Given the description of an element on the screen output the (x, y) to click on. 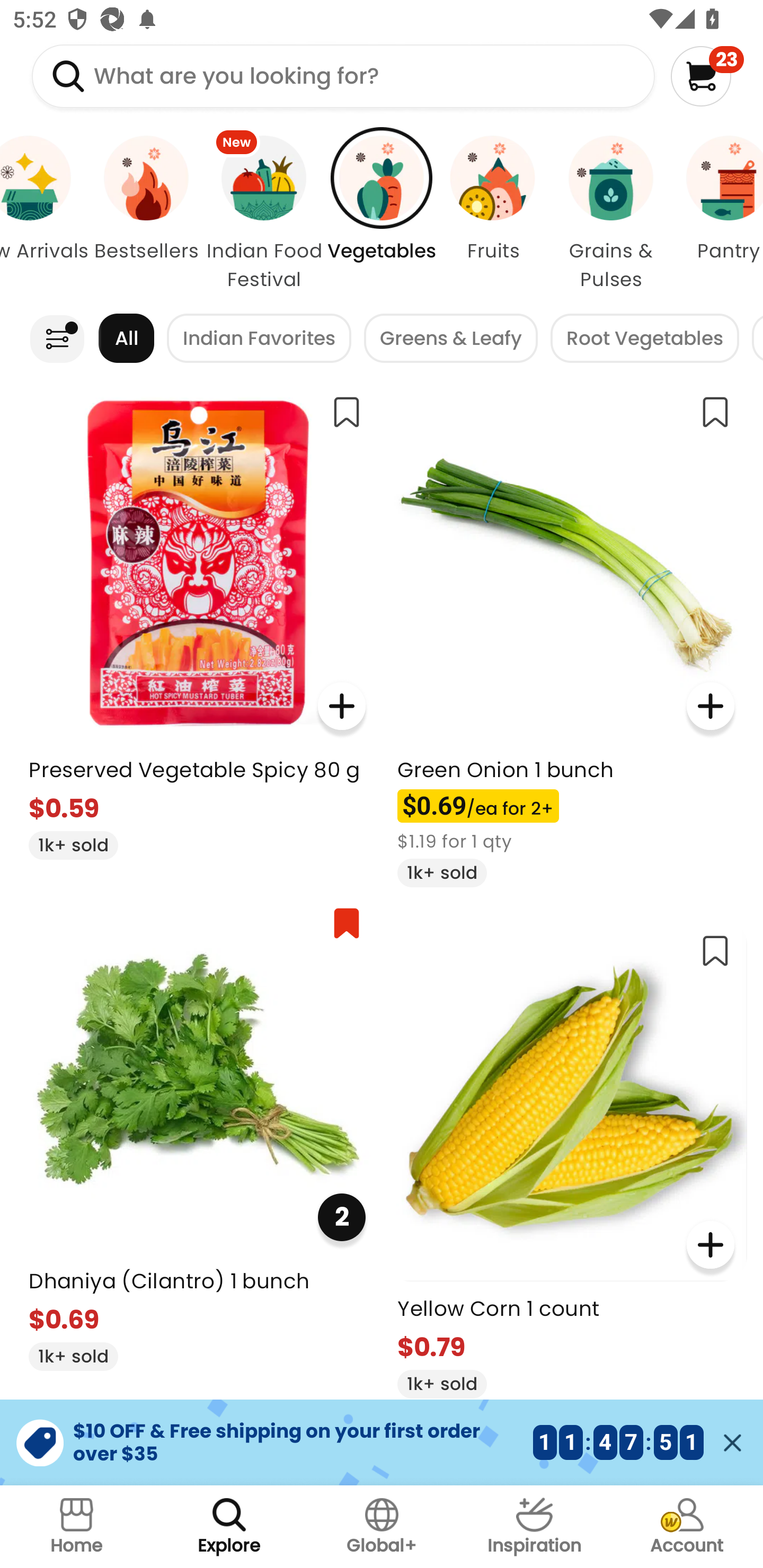
What are you looking for? (343, 75)
23 (706, 75)
New Arrivals (45, 214)
Bestsellers (146, 214)
New Indian Food Festival (263, 214)
Vegetables (381, 214)
Fruits (492, 214)
Grains & Pulses (610, 214)
Pantry (717, 214)
All (126, 337)
Indian Favorites (258, 337)
Greens & Leafy (450, 337)
Root Vegetables (644, 337)
Preserved Vegetable Spicy 80 g $0.59 1k+ sold (197, 620)
2 Dhaniya (Cilantro) 1 bunch $0.69 1k+ sold (197, 1131)
Yellow Corn 1 count $0.79 1k+ sold (565, 1158)
2 (341, 1217)
Home (76, 1526)
Explore (228, 1526)
Global+ (381, 1526)
Inspiration (533, 1526)
Account (686, 1526)
